Given the description of an element on the screen output the (x, y) to click on. 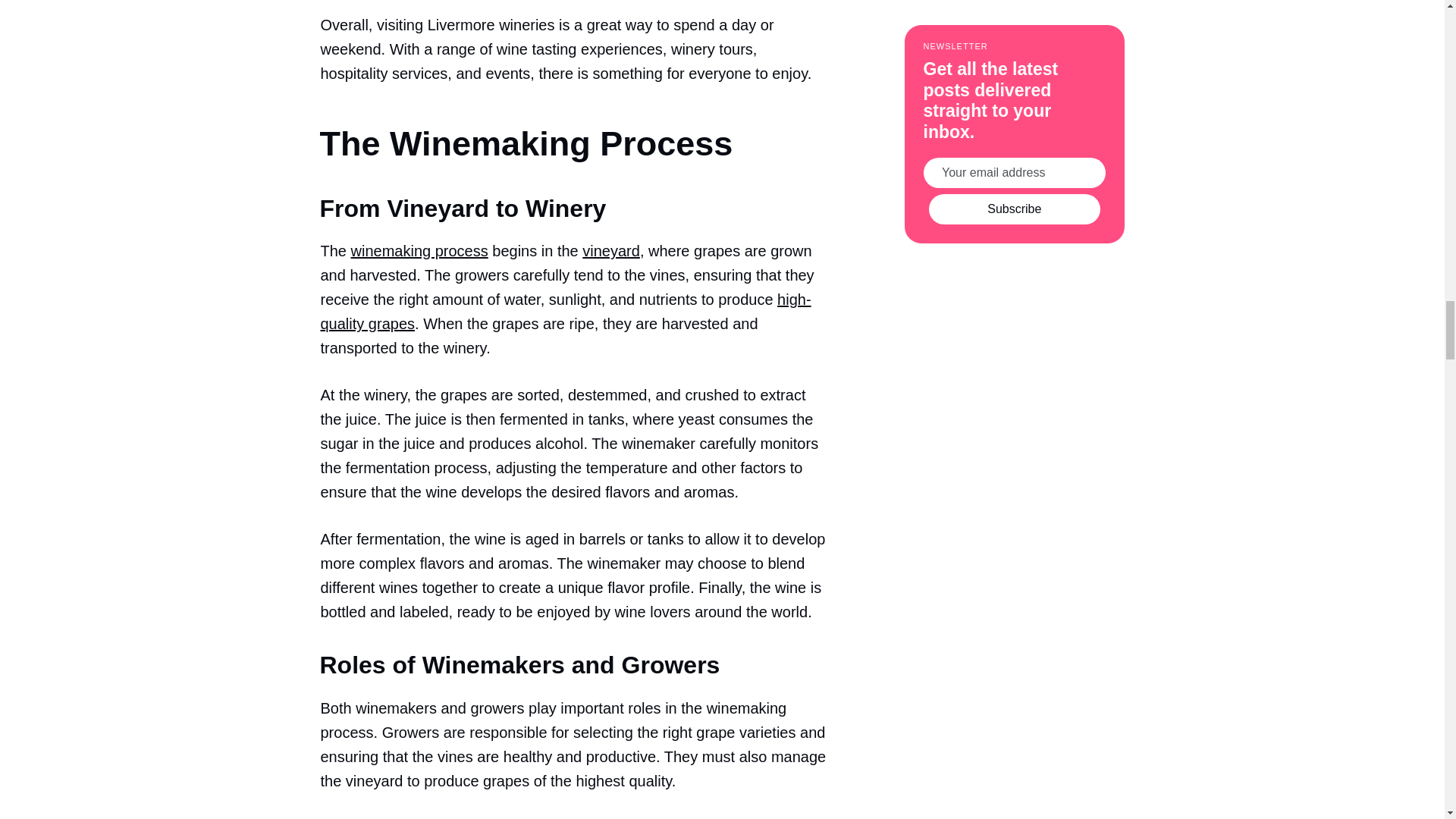
winemaking process (418, 250)
vineyard (611, 250)
high-quality grapes (565, 311)
